Given the description of an element on the screen output the (x, y) to click on. 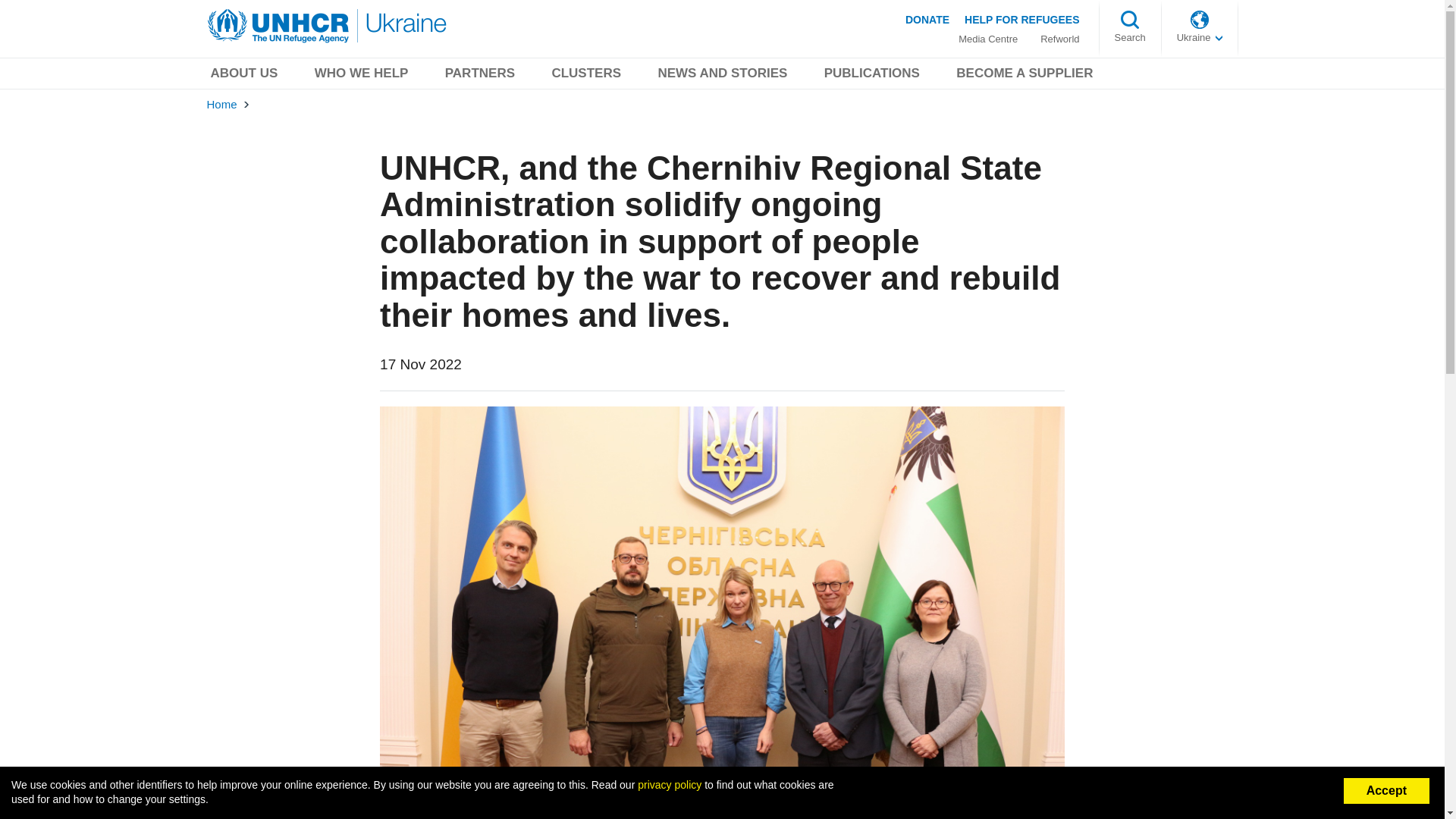
Search (1130, 38)
Refworld (1059, 38)
Donate (927, 19)
Media Centre (987, 38)
PUBLICATIONS (872, 76)
BECOME A SUPPLIER (1024, 76)
HELP FOR REFUGEES (1021, 19)
UNHCR International (1199, 38)
DONATE (927, 19)
Help for Refugees (1021, 19)
